Given the description of an element on the screen output the (x, y) to click on. 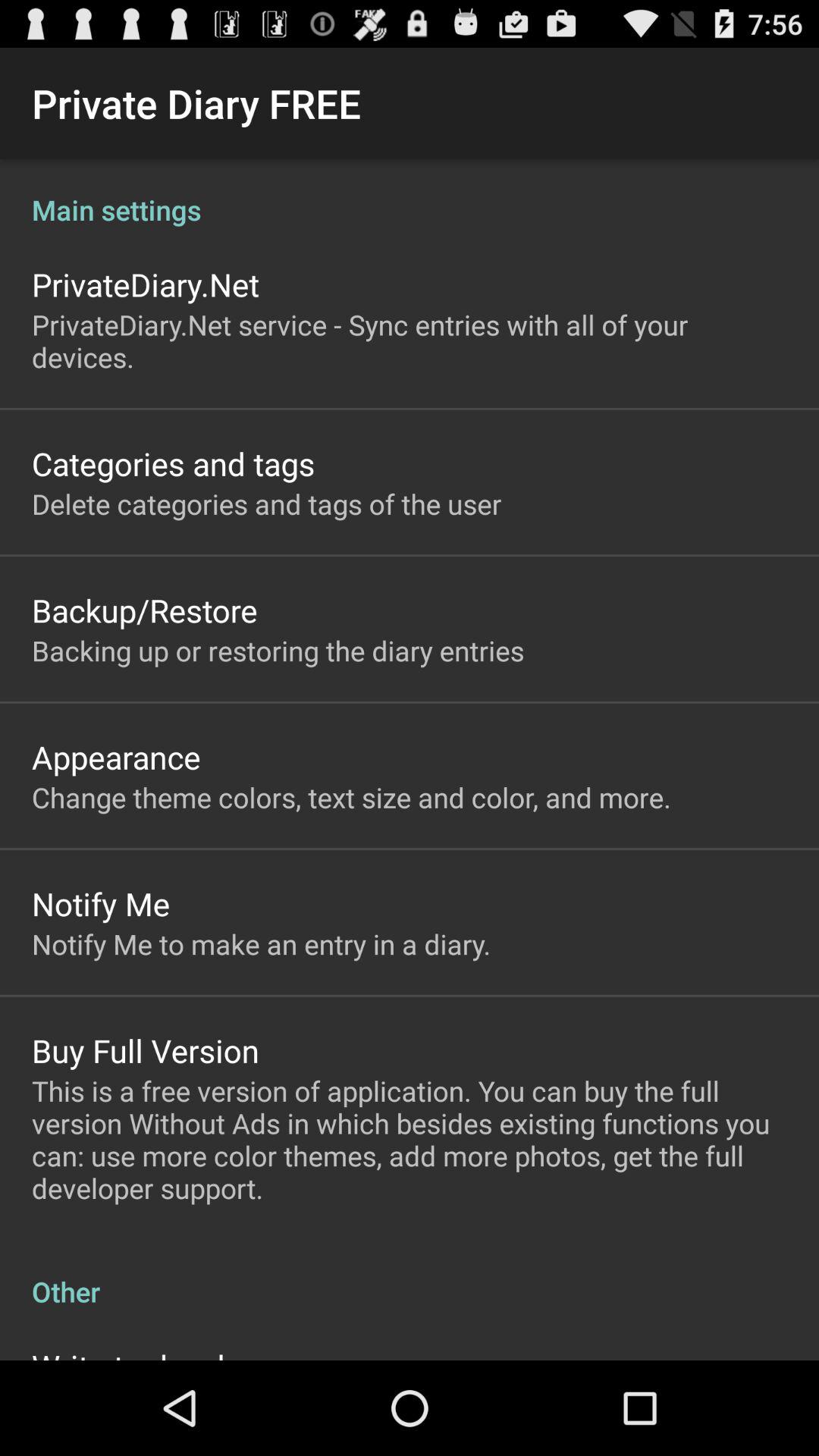
swipe to the other app (409, 1275)
